Given the description of an element on the screen output the (x, y) to click on. 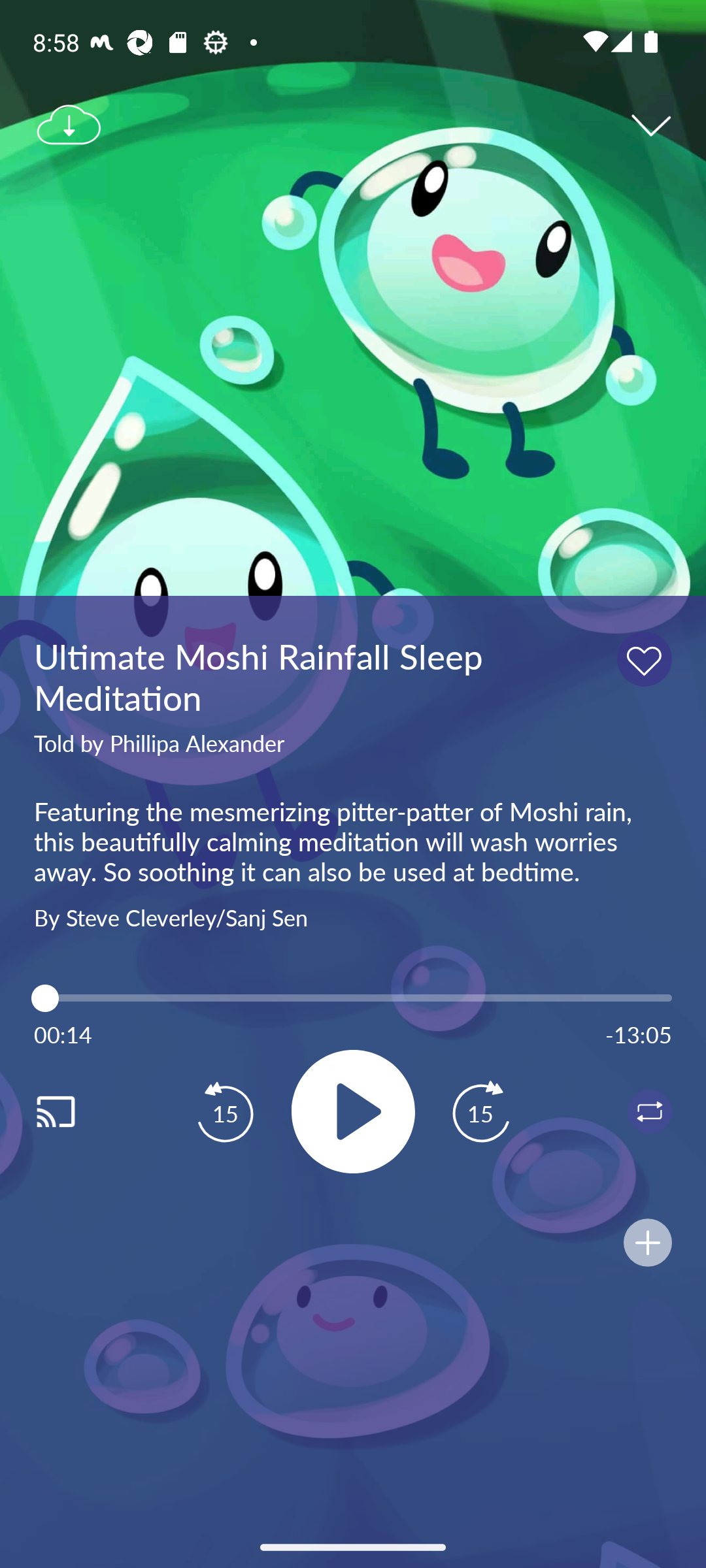
14.0 (352, 997)
Cast. Disconnected (76, 1111)
